Given the description of an element on the screen output the (x, y) to click on. 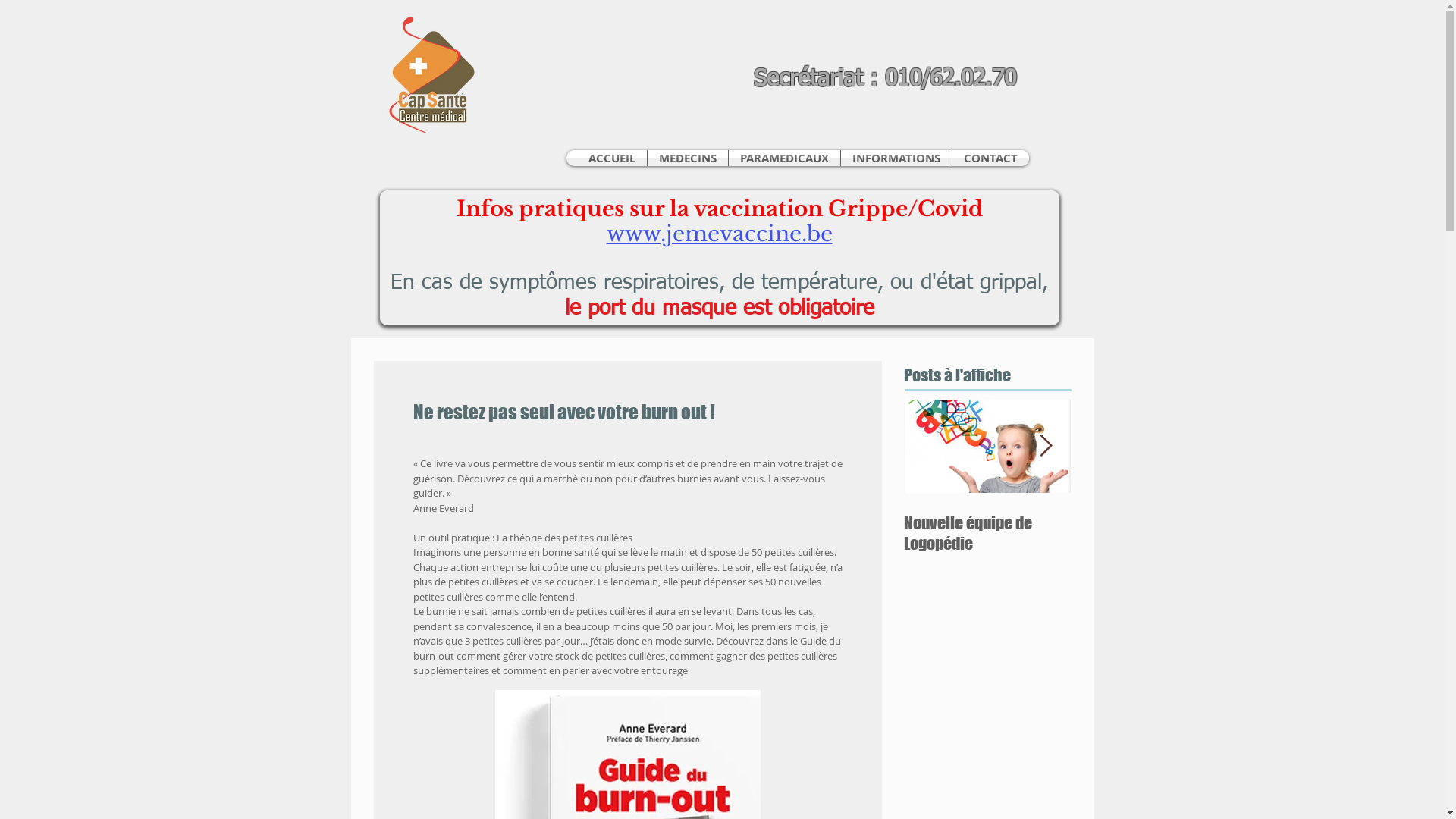
www.jemevaccine.be Element type: text (719, 232)
CONTACT Element type: text (990, 158)
INFORMATIONS Element type: text (895, 158)
Vaccination 2023 pour la Grippe et le Covid Element type: text (1153, 532)
MEDECINS Element type: text (687, 158)
PARAMEDICAUX Element type: text (783, 158)
ACCUEIL Element type: text (611, 158)
